Given the description of an element on the screen output the (x, y) to click on. 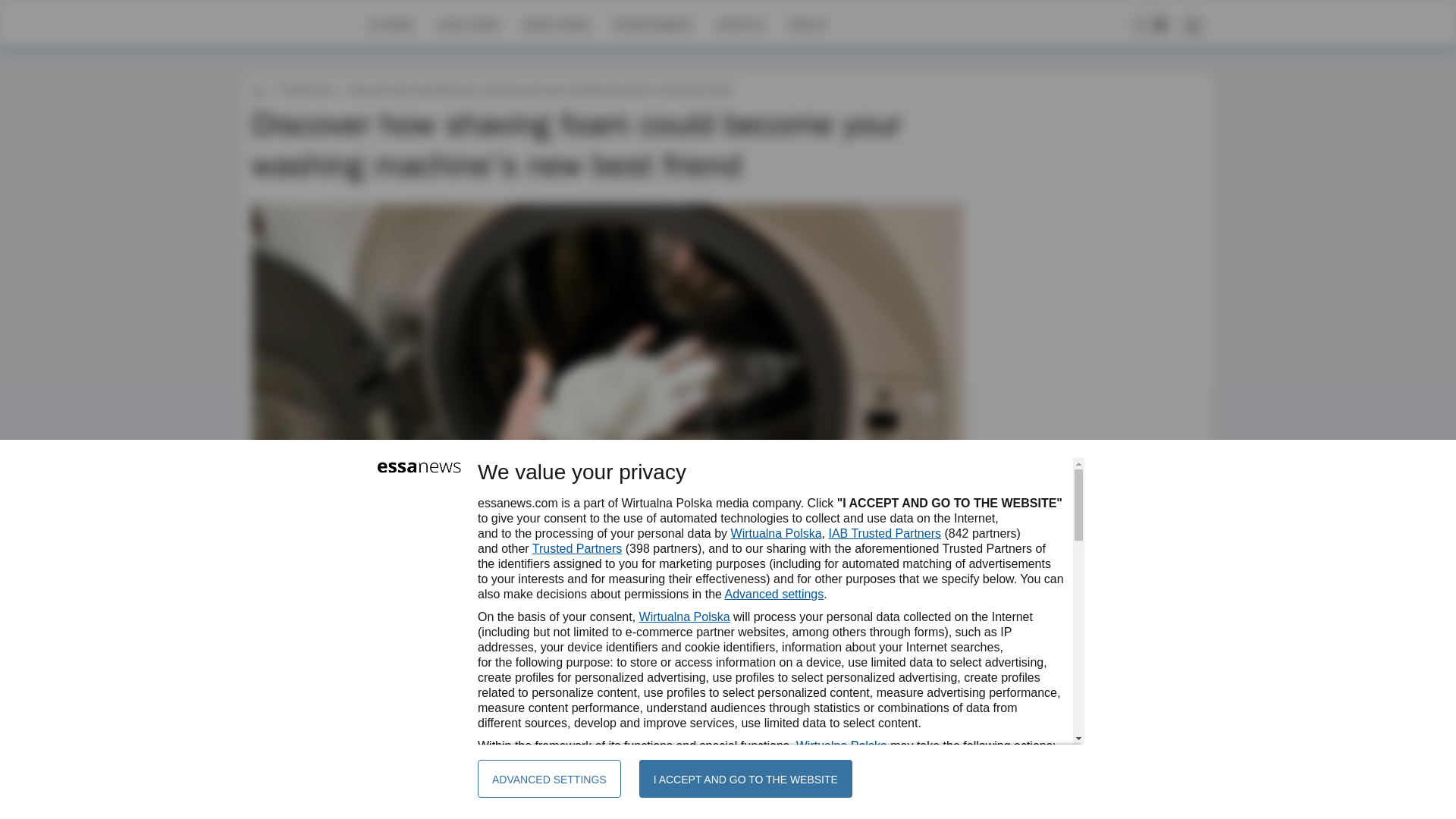
SHARE (936, 649)
ALB (298, 641)
LIFESTYLE (740, 24)
WORLD NEWS (555, 24)
essanews.com (257, 89)
ENTERTAINMENT (652, 24)
LOCAL NEWS (468, 24)
ALB (298, 641)
US NEWS (390, 24)
HEALTH (807, 24)
Homepage (305, 24)
